Given the description of an element on the screen output the (x, y) to click on. 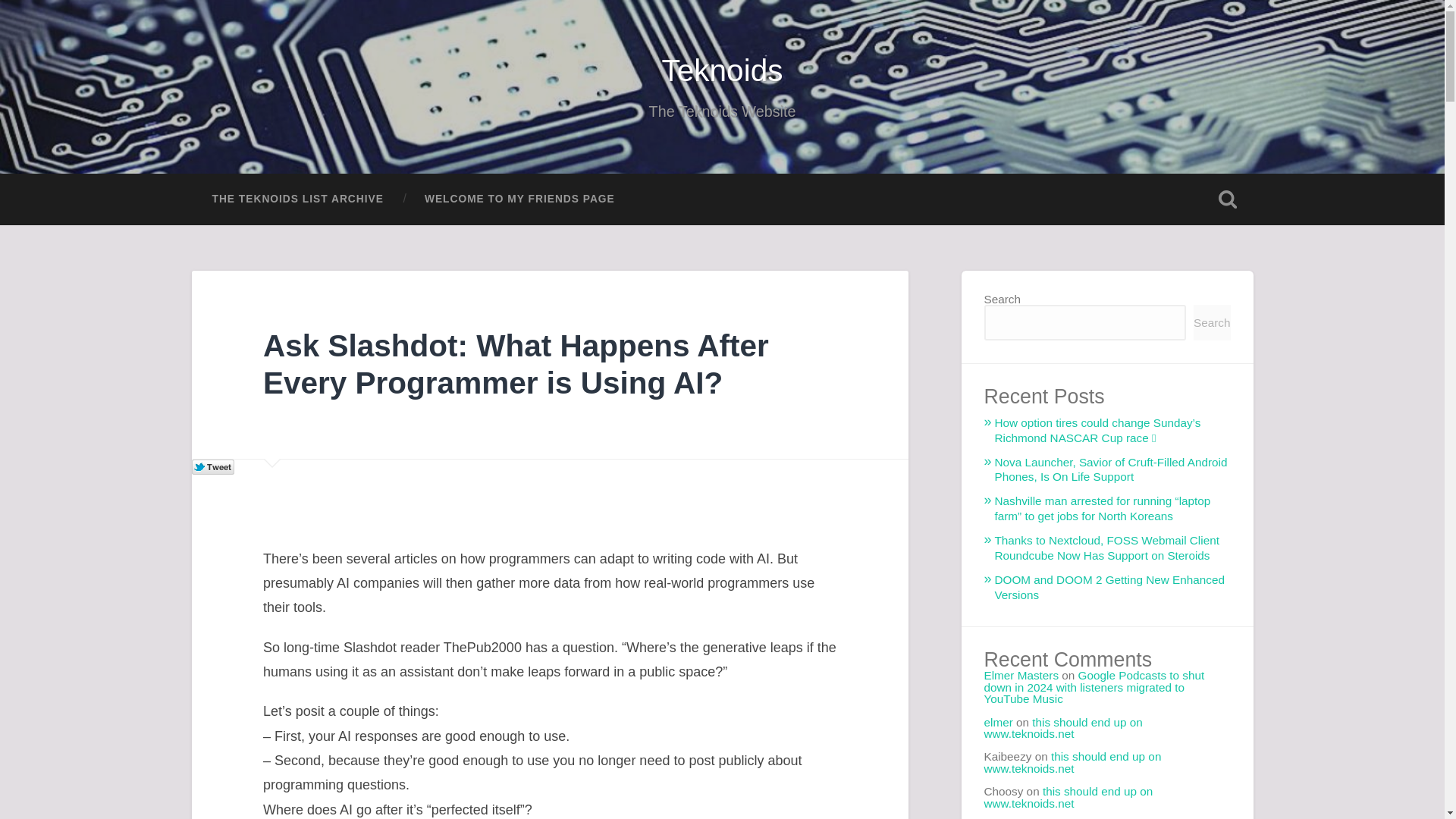
Elmer Masters (1021, 675)
Teknoids (722, 70)
Search (1211, 322)
THE TEKNOIDS LIST ARCHIVE (296, 199)
elmer (998, 721)
this should end up on www.teknoids.net (1068, 796)
DOOM and DOOM 2 Getting New Enhanced Versions (1109, 587)
